Given the description of an element on the screen output the (x, y) to click on. 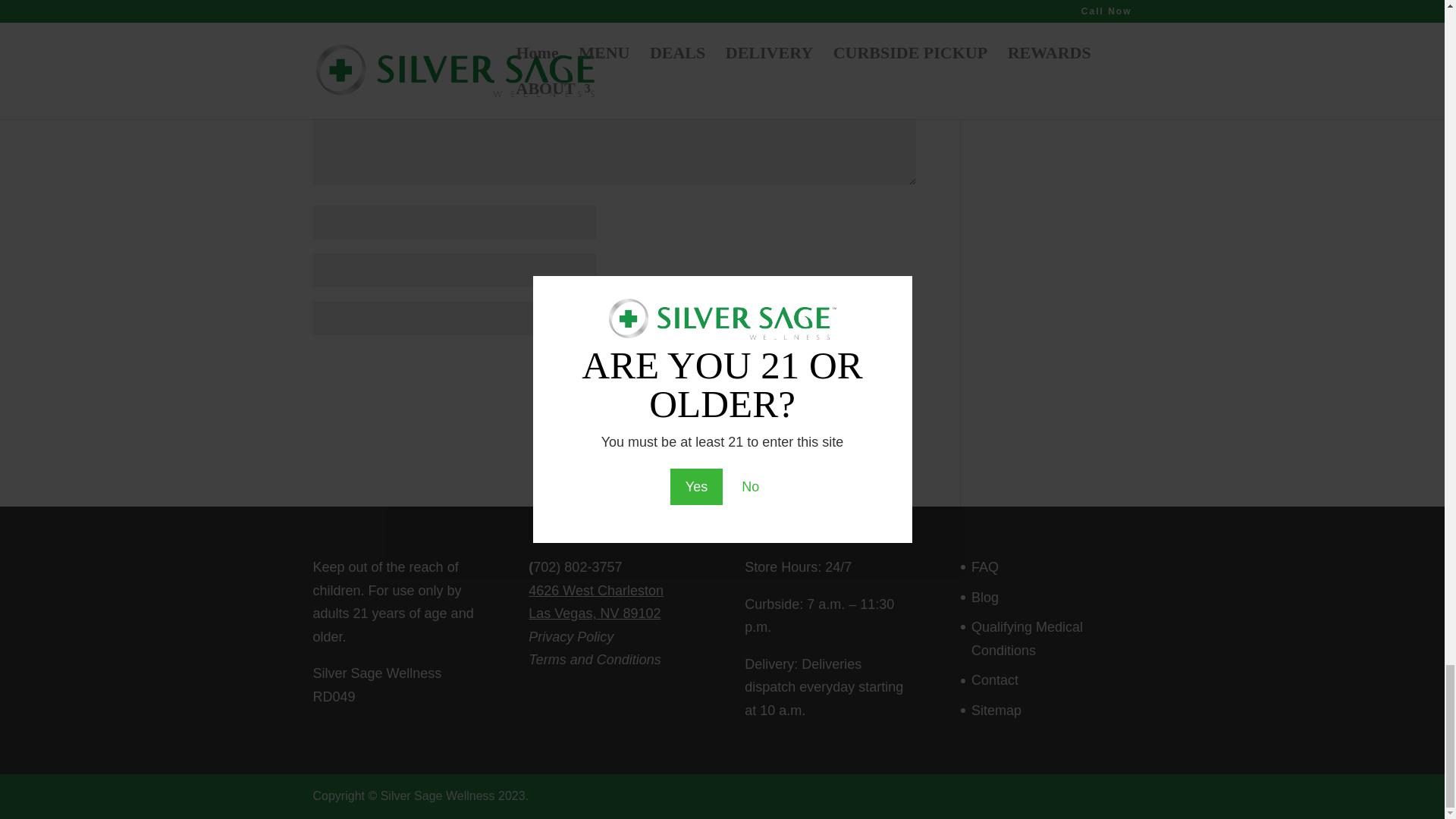
Submit Comment (840, 367)
Terms and Conditions (594, 659)
Submit Comment (840, 367)
Privacy Policy (570, 636)
FAQ (984, 566)
